Given the description of an element on the screen output the (x, y) to click on. 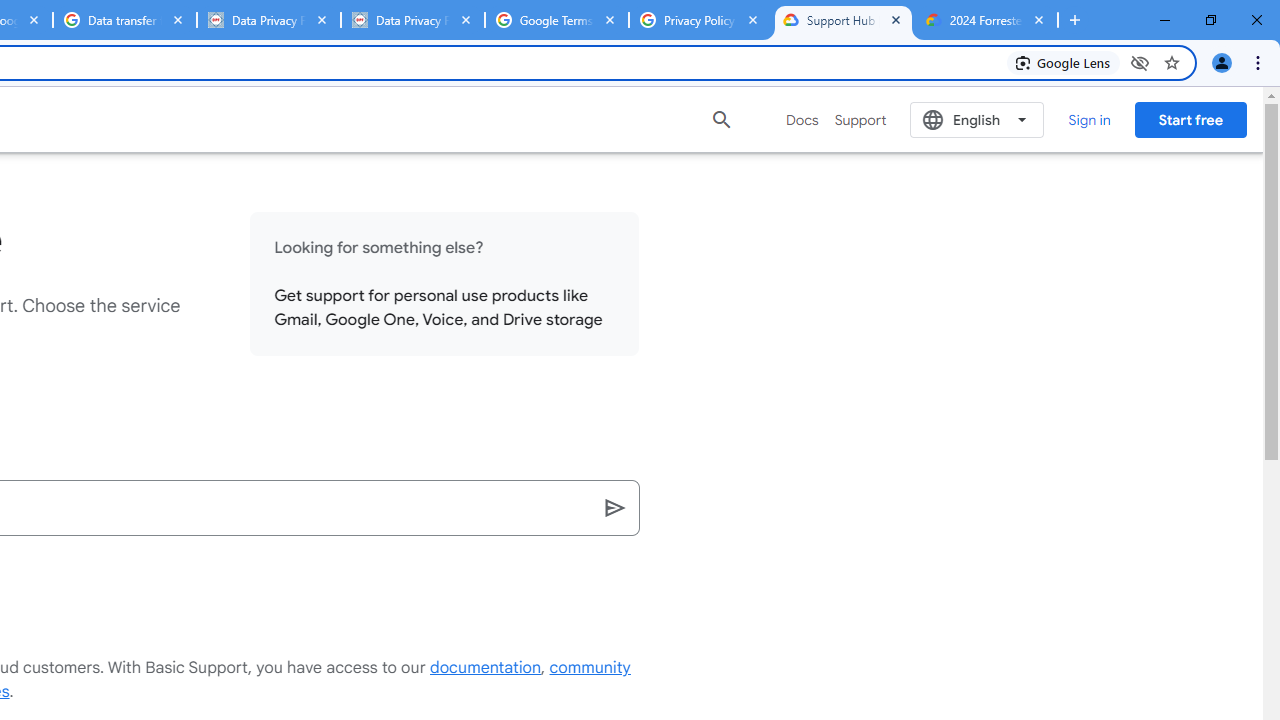
Support Hub | Google Cloud (843, 20)
Data Privacy Framework (268, 20)
Support (860, 119)
Start free (1190, 119)
